Given the description of an element on the screen output the (x, y) to click on. 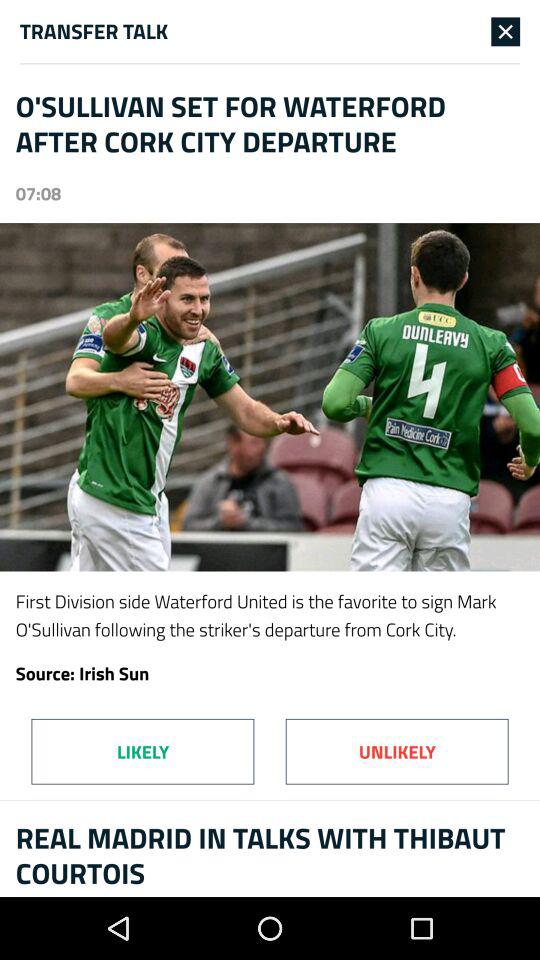
press the icon at the bottom right corner (396, 751)
